Given the description of an element on the screen output the (x, y) to click on. 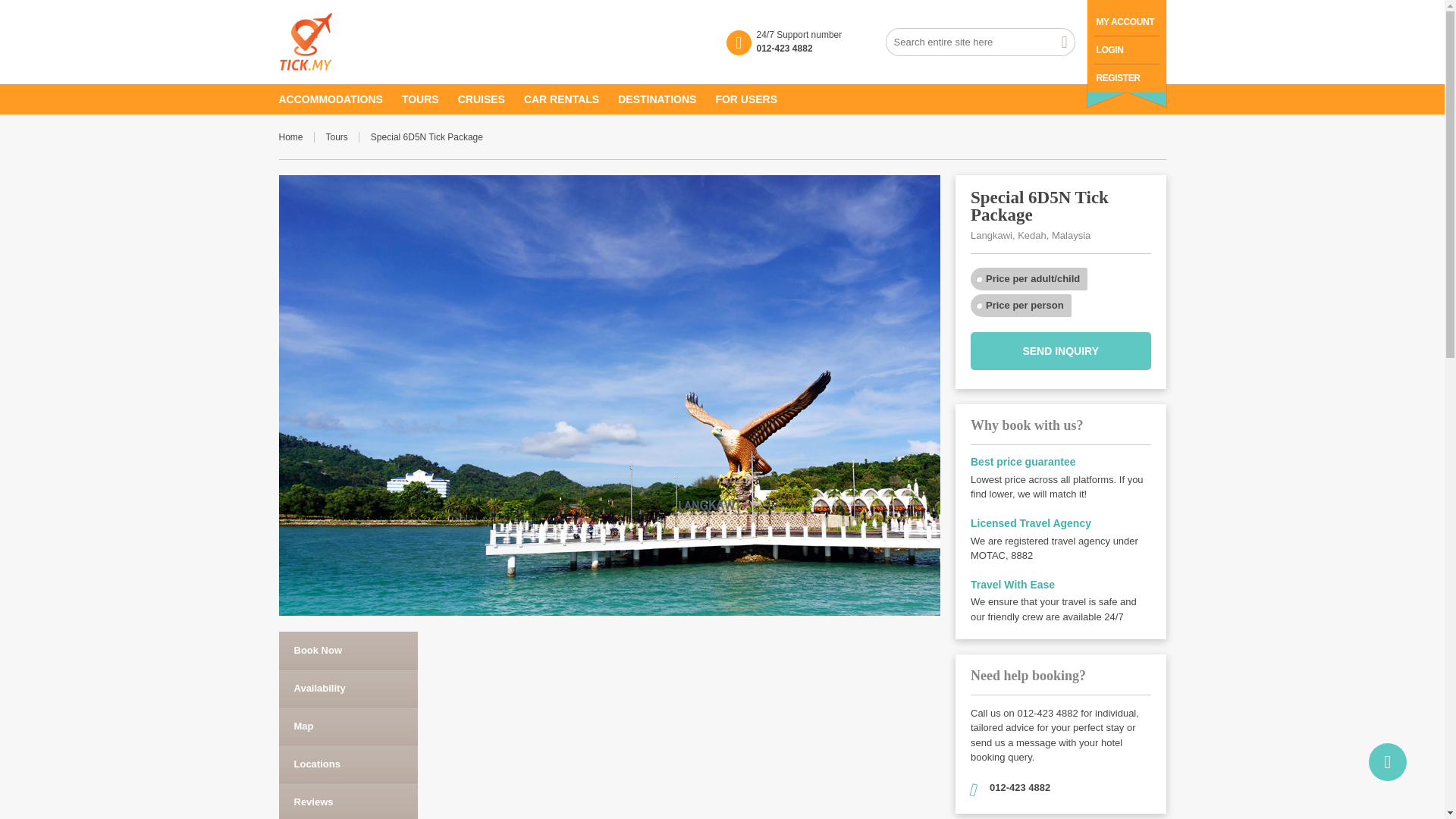
Book Now (348, 650)
My Account (1125, 21)
SEND INQUIRY (1061, 351)
CAR RENTALS (570, 98)
Availability (348, 687)
REGISTER (1118, 77)
Login (1110, 50)
CRUISES (491, 98)
Tours (342, 136)
DESTINATIONS (665, 98)
Register (1118, 77)
LOGIN (1110, 50)
TOURS (429, 98)
Tours (342, 136)
